Given the description of an element on the screen output the (x, y) to click on. 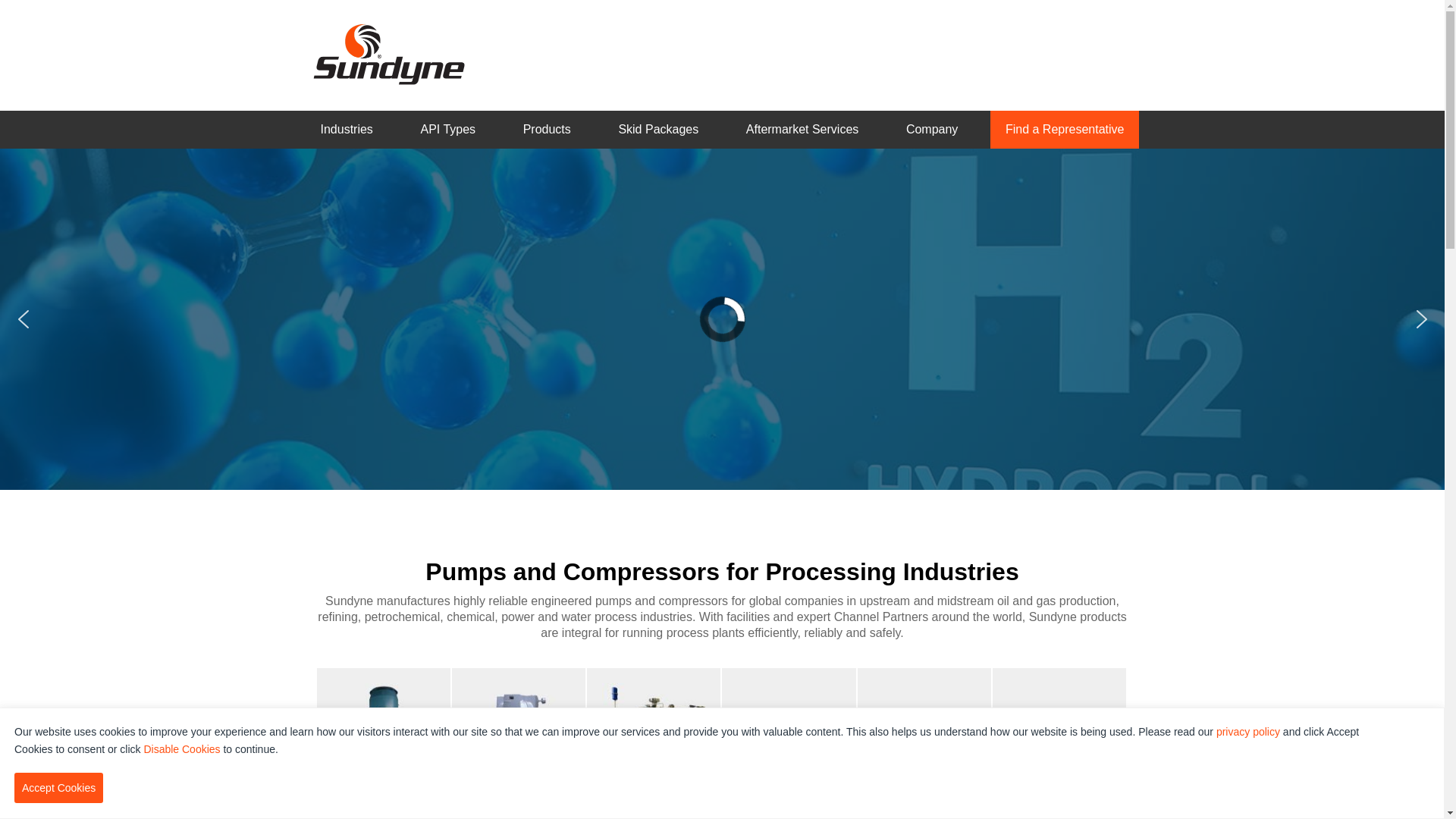
Disable Cookies Element type: text (181, 749)
Products Element type: text (547, 129)
Aftermarket Services Element type: text (802, 129)
privacy policy Element type: text (1248, 731)
Read More Element type: text (722, 388)
Find a Representative Element type: text (1064, 129)
API Types Element type: text (447, 129)
Sundyne Element type: hover (388, 53)
Skid Packages Element type: text (657, 129)
Company Element type: text (931, 129)
Industries Element type: text (345, 129)
